Given the description of an element on the screen output the (x, y) to click on. 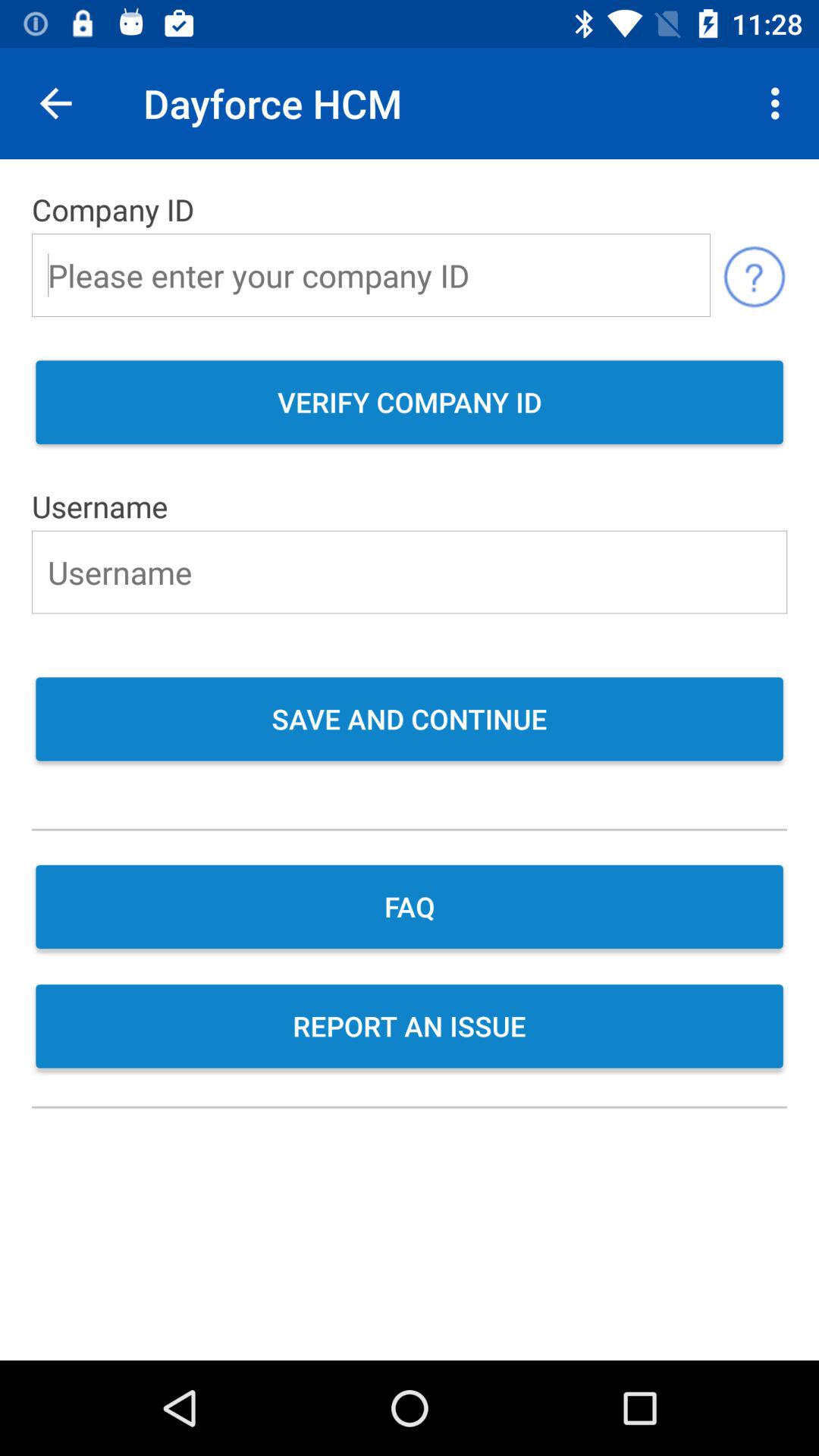
flip to the report an issue icon (409, 1028)
